Given the description of an element on the screen output the (x, y) to click on. 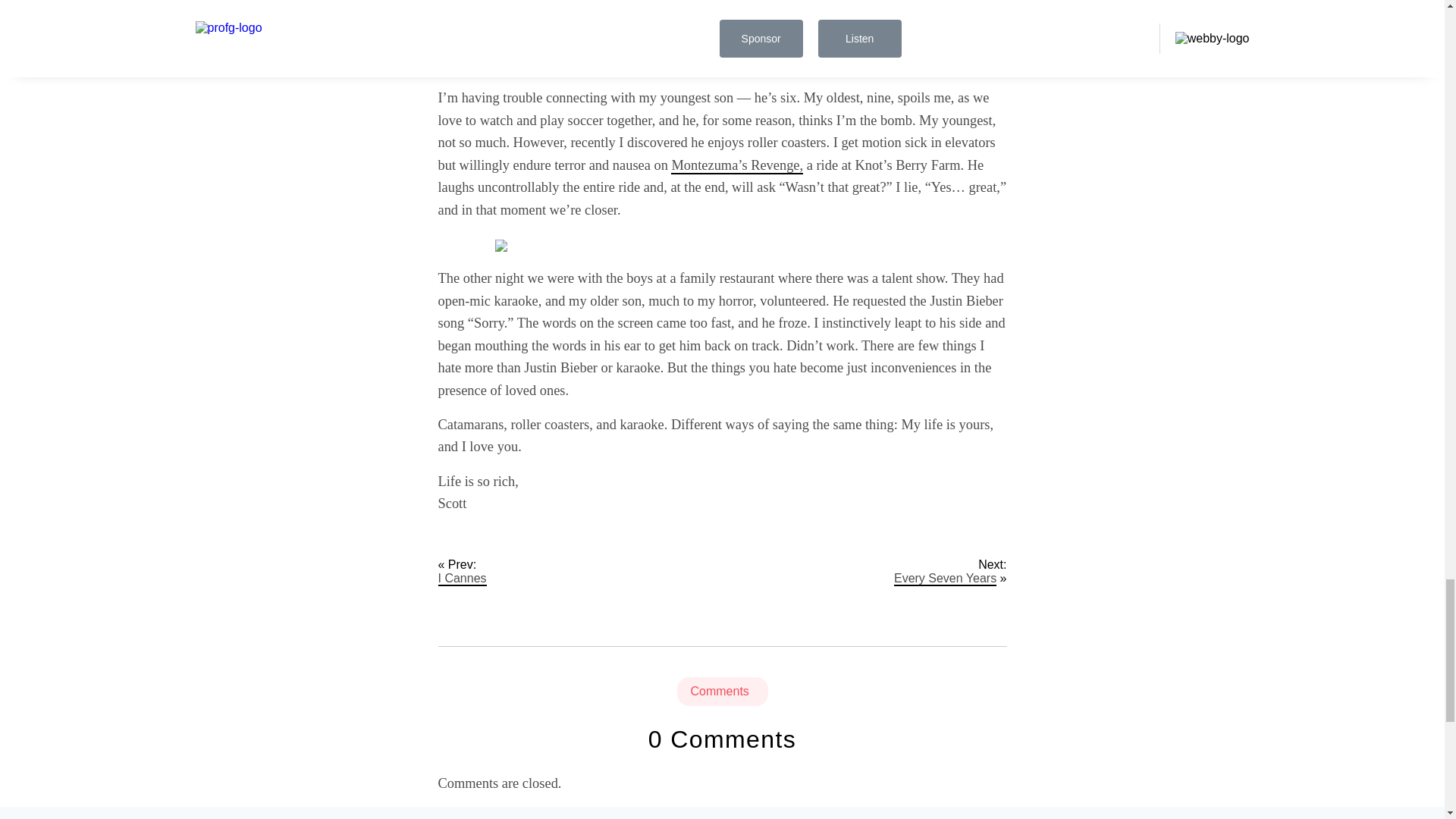
I Cannes (462, 578)
Every Seven Years (944, 578)
